Given the description of an element on the screen output the (x, y) to click on. 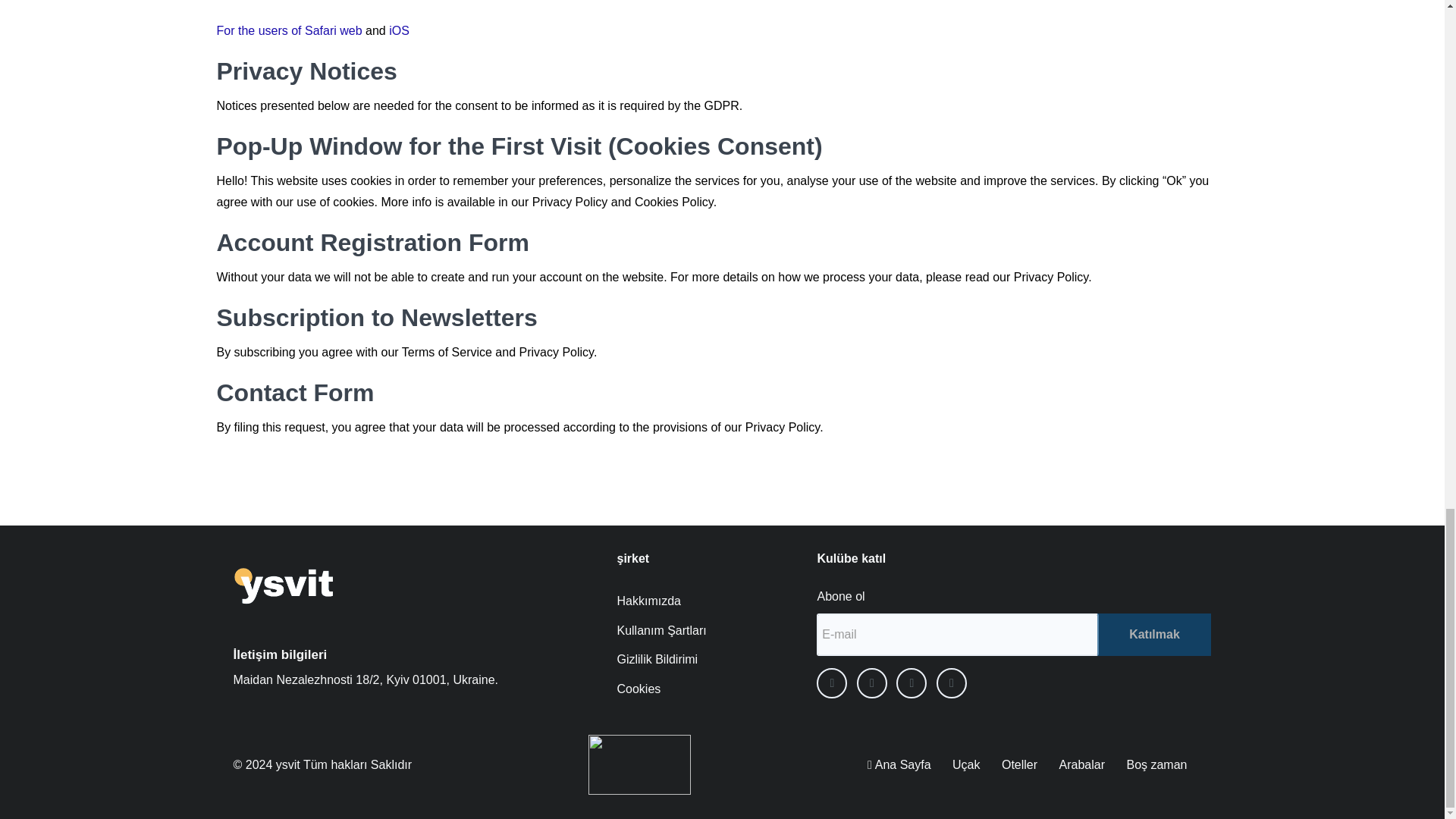
Gizlilik Bildirimi (679, 659)
Oteller (1025, 764)
Cookies (679, 688)
For the users of Safari web (289, 30)
iOS (398, 30)
Arabalar (1087, 764)
Ana Sayfa (905, 764)
